Given the description of an element on the screen output the (x, y) to click on. 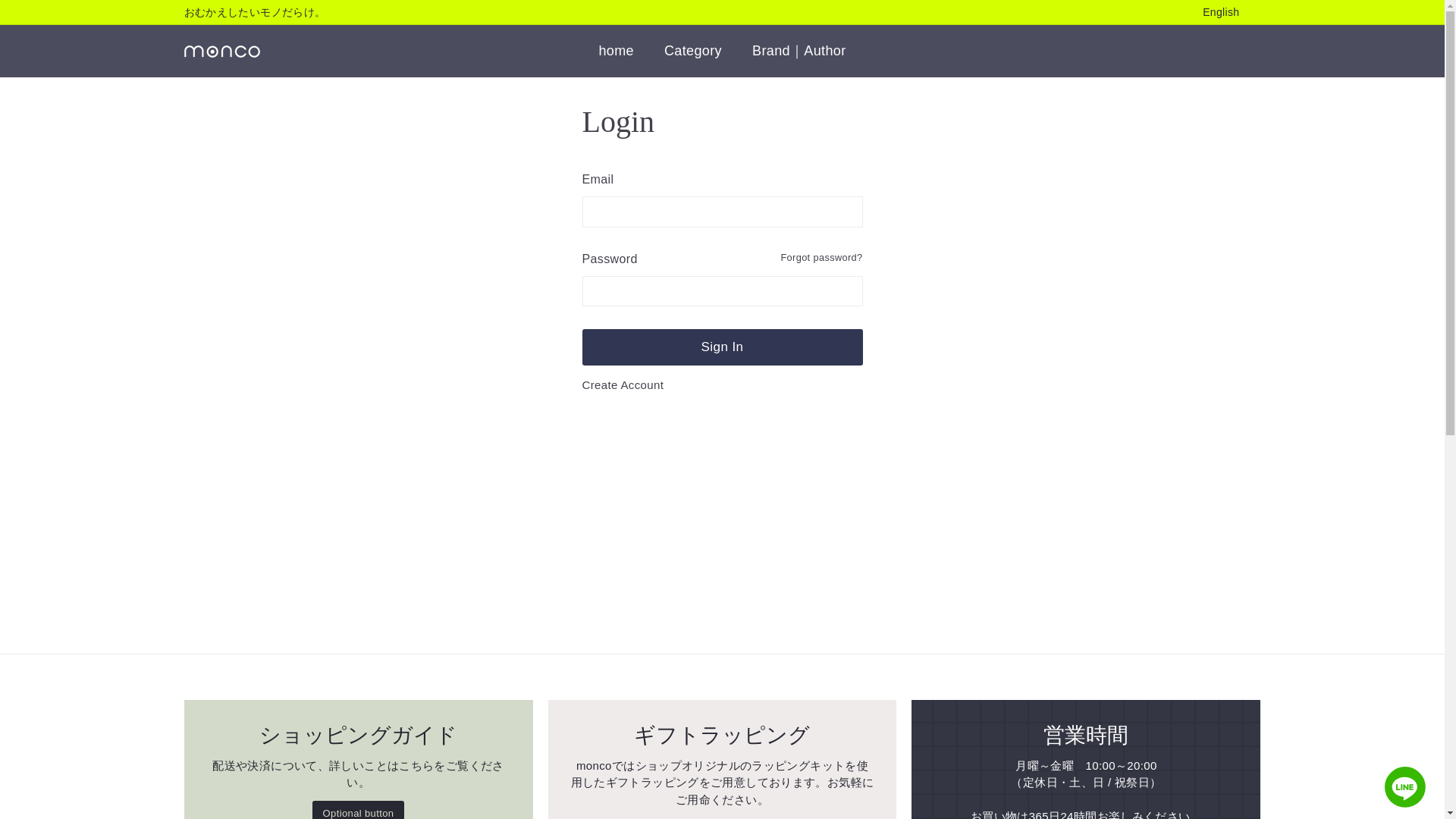
home (616, 50)
English (1231, 12)
